Given the description of an element on the screen output the (x, y) to click on. 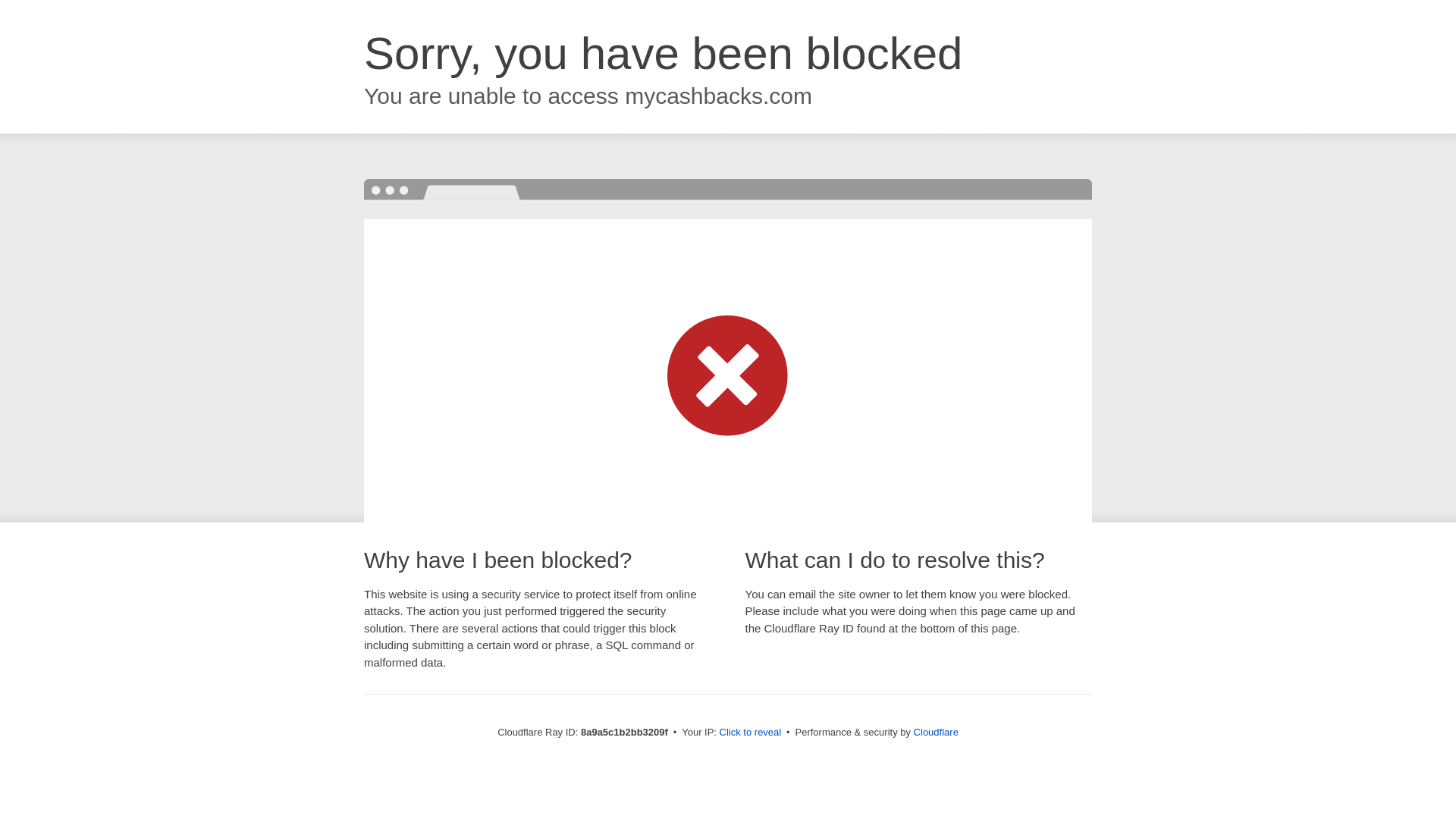
Cloudflare (936, 731)
Click to reveal (750, 732)
